Given the description of an element on the screen output the (x, y) to click on. 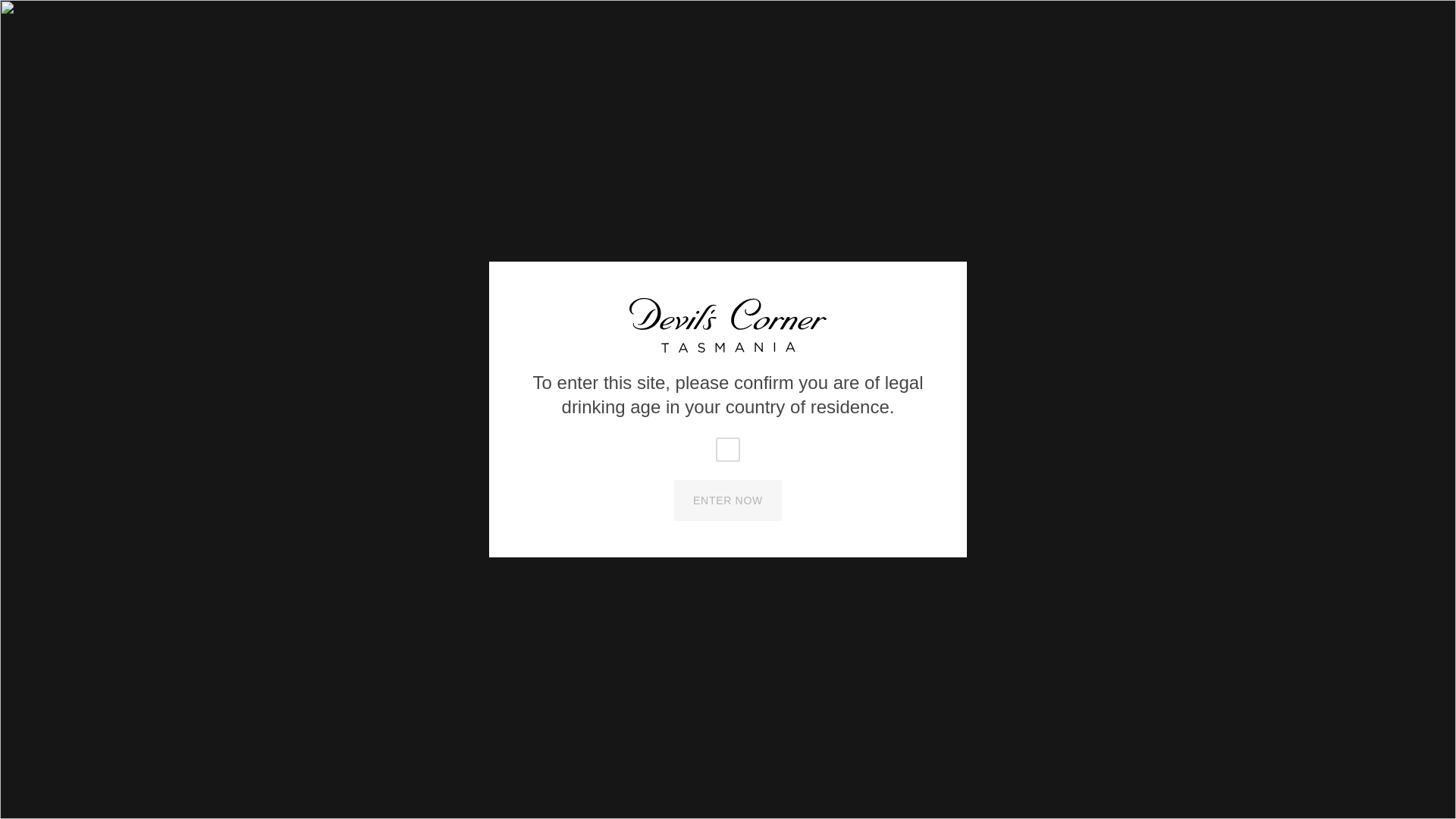
OUR WINES (574, 132)
BLOG (716, 132)
CONTACT (859, 132)
ABOUT (652, 132)
VISIT (499, 132)
SHOP (1211, 72)
CONTACT US (1214, 18)
ENTER NOW (727, 499)
SHOP (242, 18)
EVENTS (783, 132)
